Given the description of an element on the screen output the (x, y) to click on. 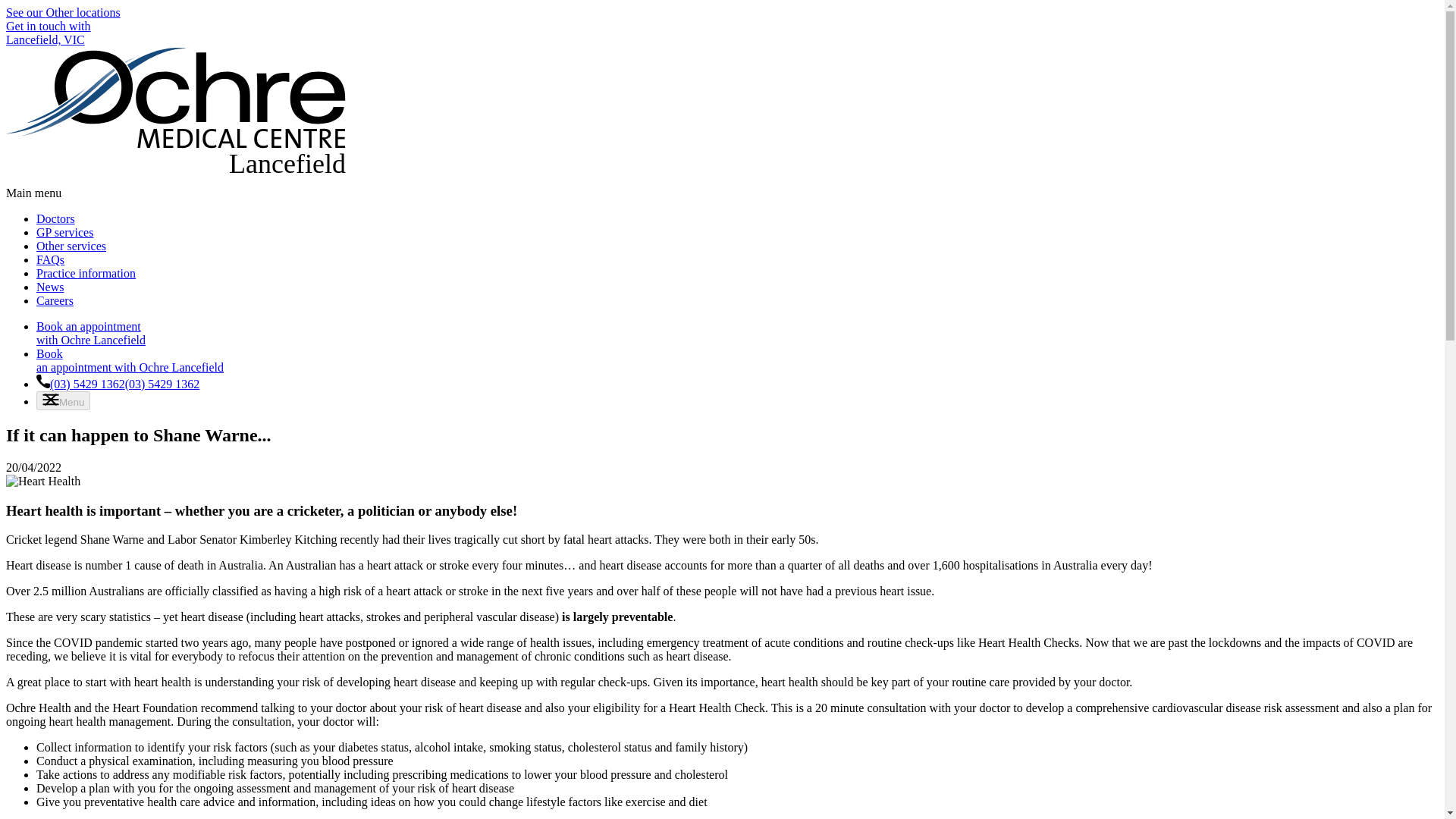
Doctors (55, 218)
Careers (55, 300)
GP services (64, 232)
Other services (71, 245)
See our Other locations (62, 11)
Practice information (176, 114)
Menu (85, 273)
FAQs (63, 400)
News (50, 259)
